Given the description of an element on the screen output the (x, y) to click on. 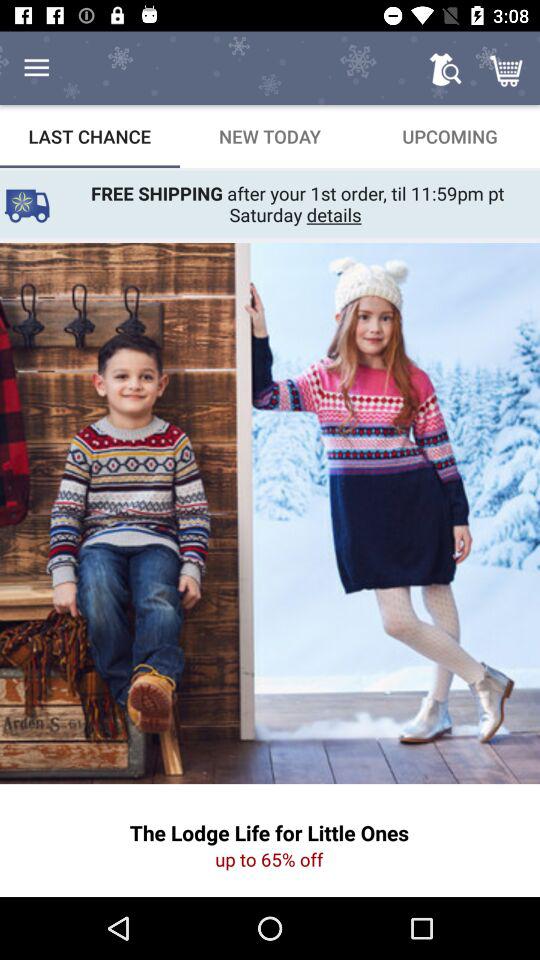
choose item above last chance item (36, 68)
